Given the description of an element on the screen output the (x, y) to click on. 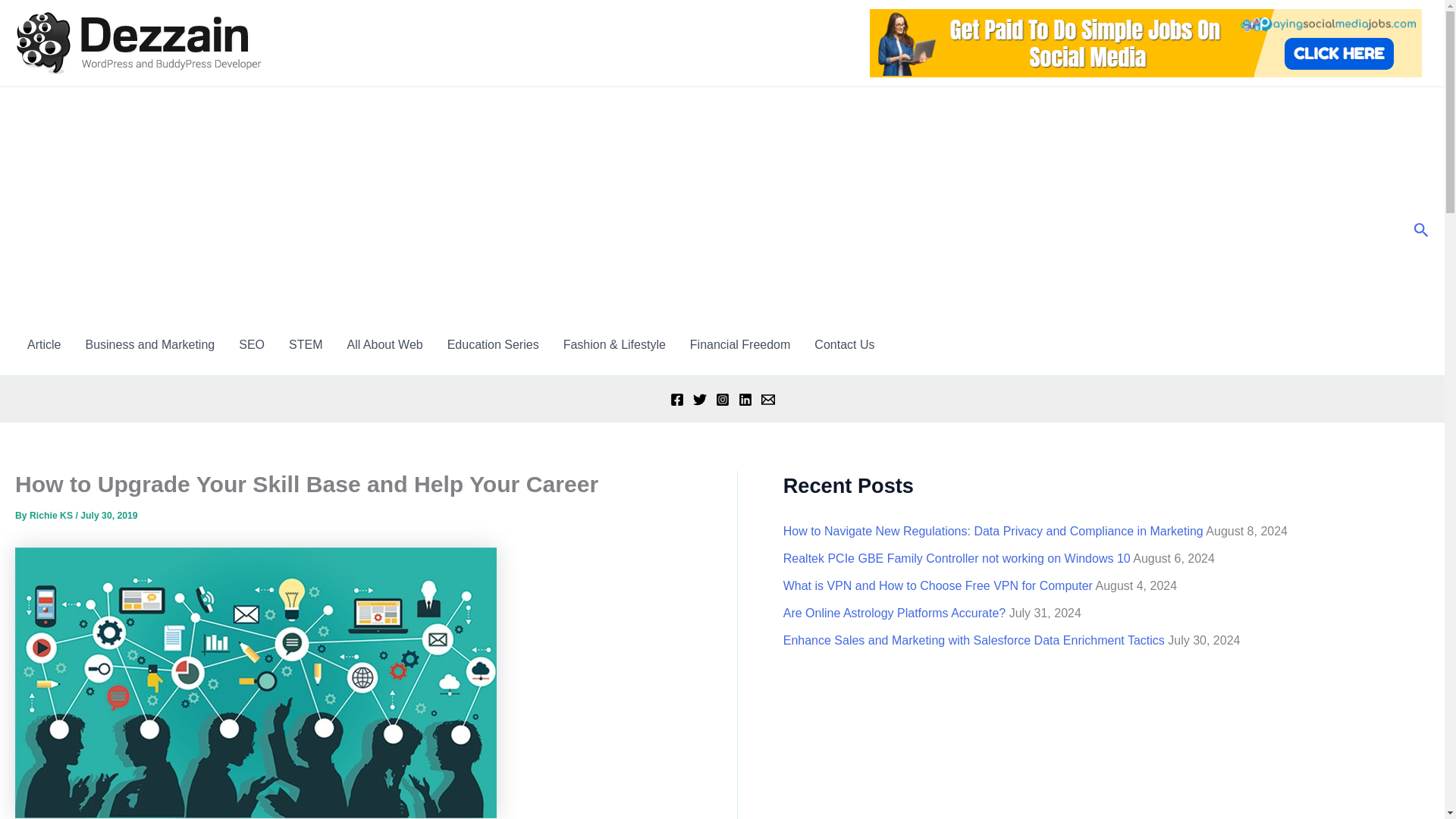
View all posts by Richie KS (52, 515)
any inquiries? (844, 344)
Contact Us (844, 344)
Financial Freedom (740, 344)
All About Web (383, 344)
STEM (305, 344)
Article (43, 344)
Business and Marketing (149, 344)
Richie KS (52, 515)
